Given the description of an element on the screen output the (x, y) to click on. 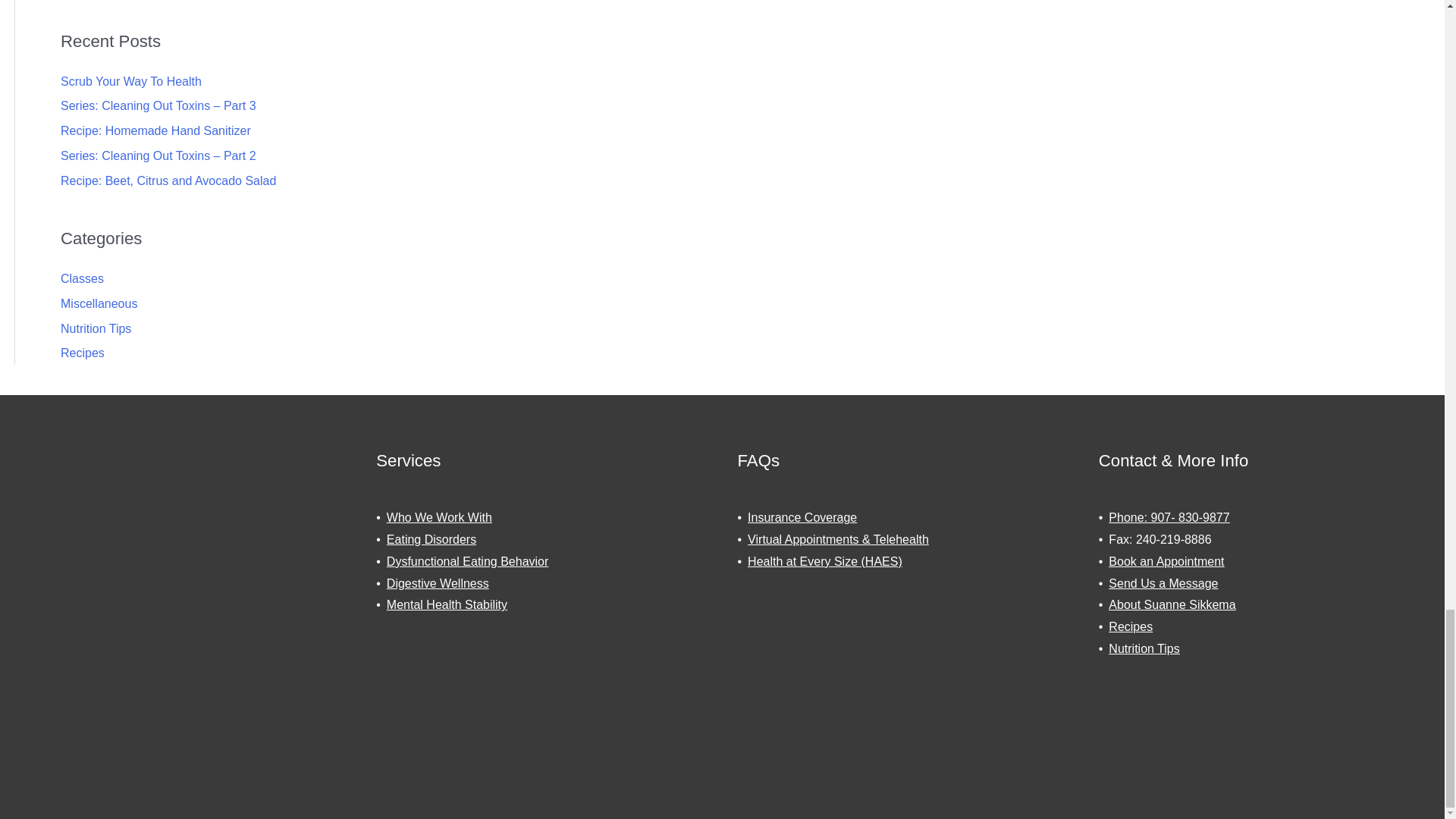
Search (1405, 2)
Scrub Your Way To Health (131, 81)
Search (1405, 2)
Search (1405, 2)
Dysfunctional Eating Behavior (467, 561)
Classes (82, 278)
Who We Work With (439, 517)
Nutrition Tips (96, 328)
Insurance Coverage (802, 517)
Miscellaneous (98, 303)
